Given the description of an element on the screen output the (x, y) to click on. 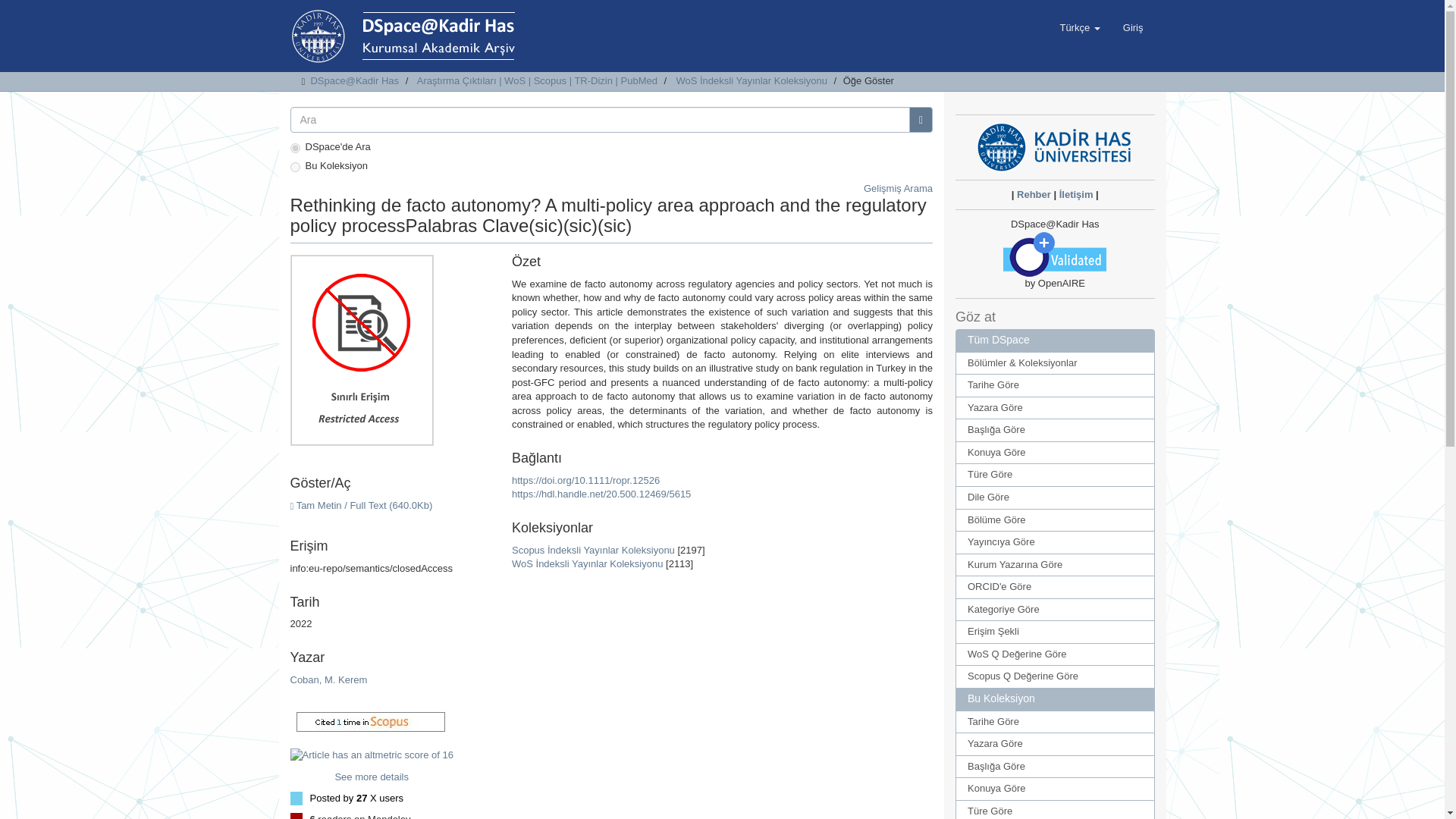
Posted by 27 X users (355, 797)
Rehber (1033, 194)
Bul (920, 119)
Coban, M. Kerem (327, 679)
See more details (371, 776)
